Given the description of an element on the screen output the (x, y) to click on. 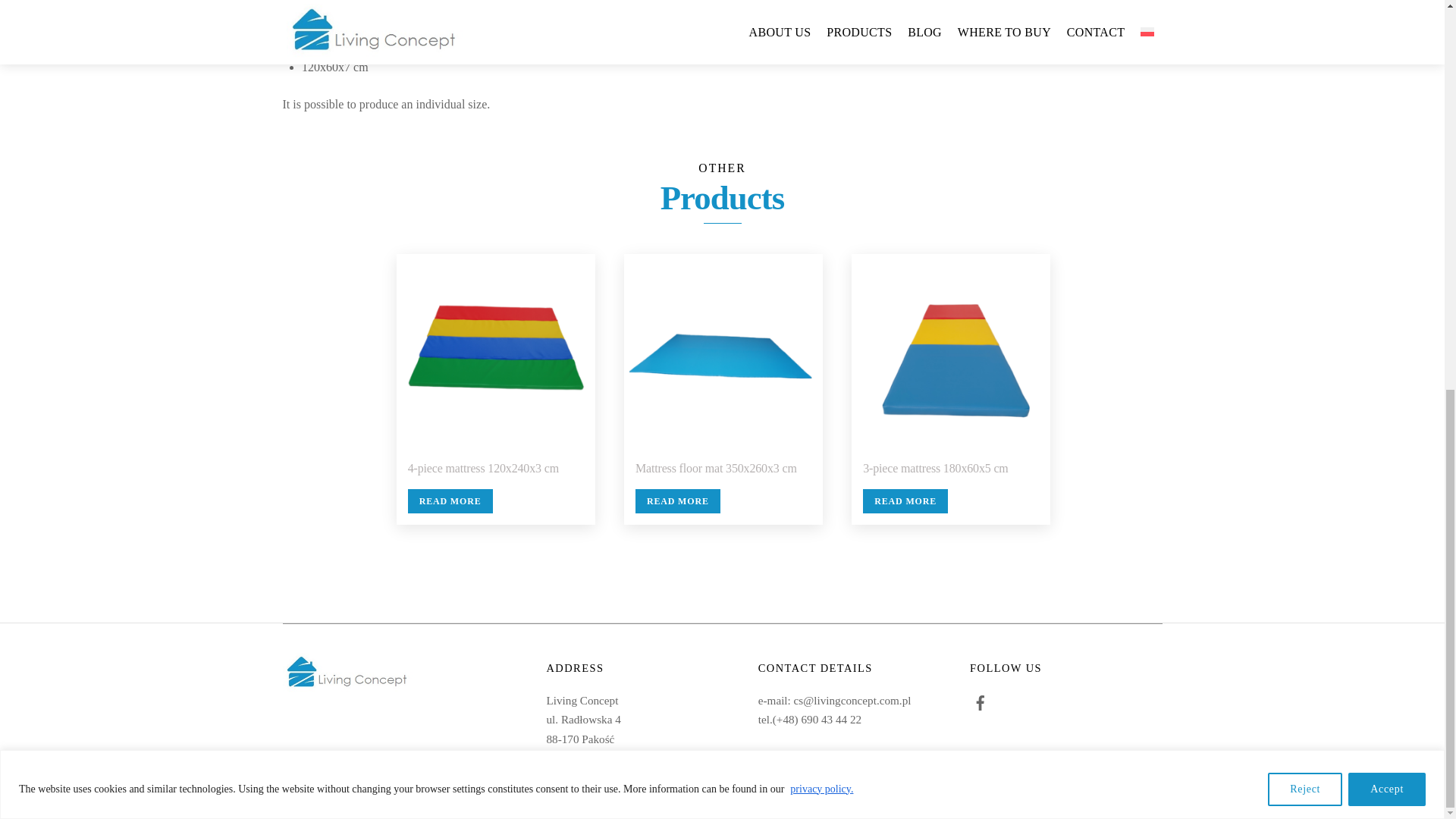
READ MORE (450, 500)
Living Concept (353, 688)
Accept (1386, 47)
READ MORE (677, 500)
privacy policy. (821, 47)
4-piece mattress 120x240x3 cm (483, 468)
Reject (1305, 47)
Mattress floor mat 350x260x3 cm (715, 468)
livingconcept-logo (353, 673)
